Given the description of an element on the screen output the (x, y) to click on. 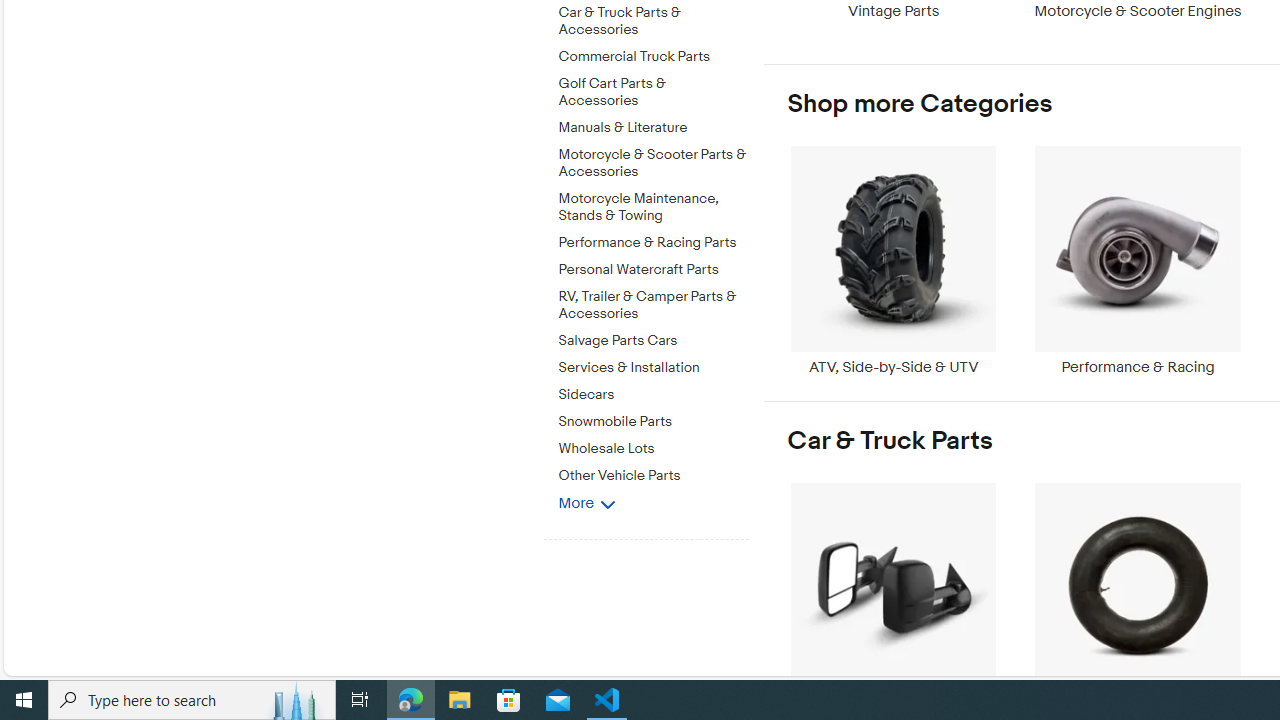
Other Vehicle Parts (653, 472)
Wholesale Lots (653, 445)
Commercial Truck Parts (653, 53)
Motorcycle & Scooter Parts & Accessories (653, 164)
More View more categories (586, 502)
Salvage Parts Cars (653, 341)
Wheels, Tires & Parts (1137, 596)
Snowmobile Parts (653, 422)
Motorcycle Maintenance, Stands & Towing (653, 204)
Personal Watercraft Parts (653, 266)
Commercial Truck Parts (653, 57)
Sidecars (653, 394)
Sidecars (653, 391)
Wheels, Tires & Parts (1137, 596)
Manuals & Literature (653, 124)
